Given the description of an element on the screen output the (x, y) to click on. 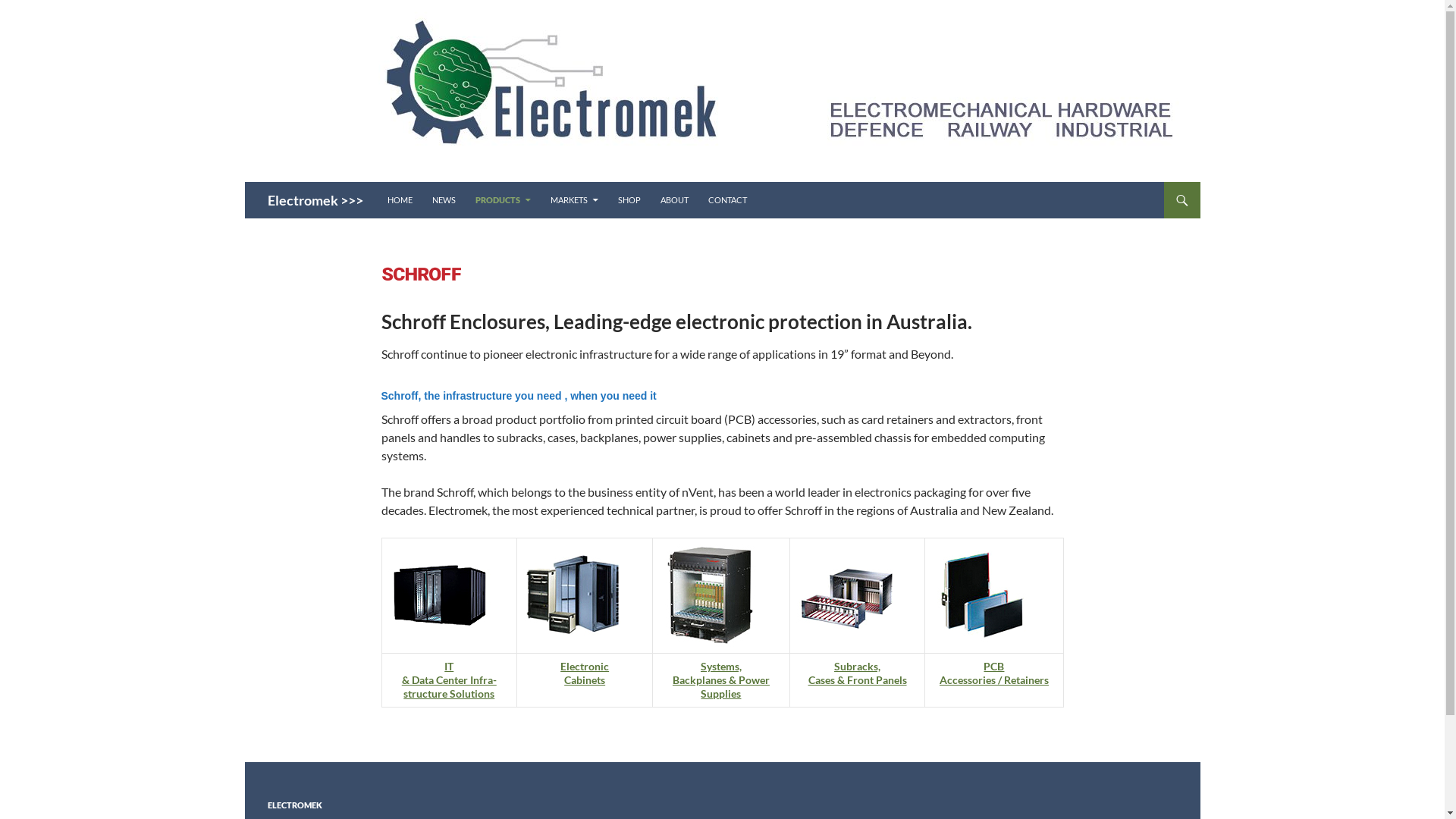
IT
& Data Center Infra-structure Solutions Element type: text (448, 679)
Electromek >>> Element type: text (314, 200)
MARKETS Element type: text (574, 200)
NEWS Element type: text (443, 200)
Electronic
Cabinets Element type: text (584, 672)
CONTACT Element type: text (727, 200)
SKIP TO CONTENT Element type: text (386, 182)
ABOUT Element type: text (673, 200)
PRODUCTS Element type: text (502, 200)
Search Element type: text (248, 182)
PCB
Accessories / Retainers Element type: text (993, 672)
SHOP Element type: text (628, 200)
Systems,
Backplanes & Power Supplies Element type: text (720, 679)
Subracks,
Cases & Front Panels Element type: text (857, 672)
HOME Element type: text (398, 200)
